Given the description of an element on the screen output the (x, y) to click on. 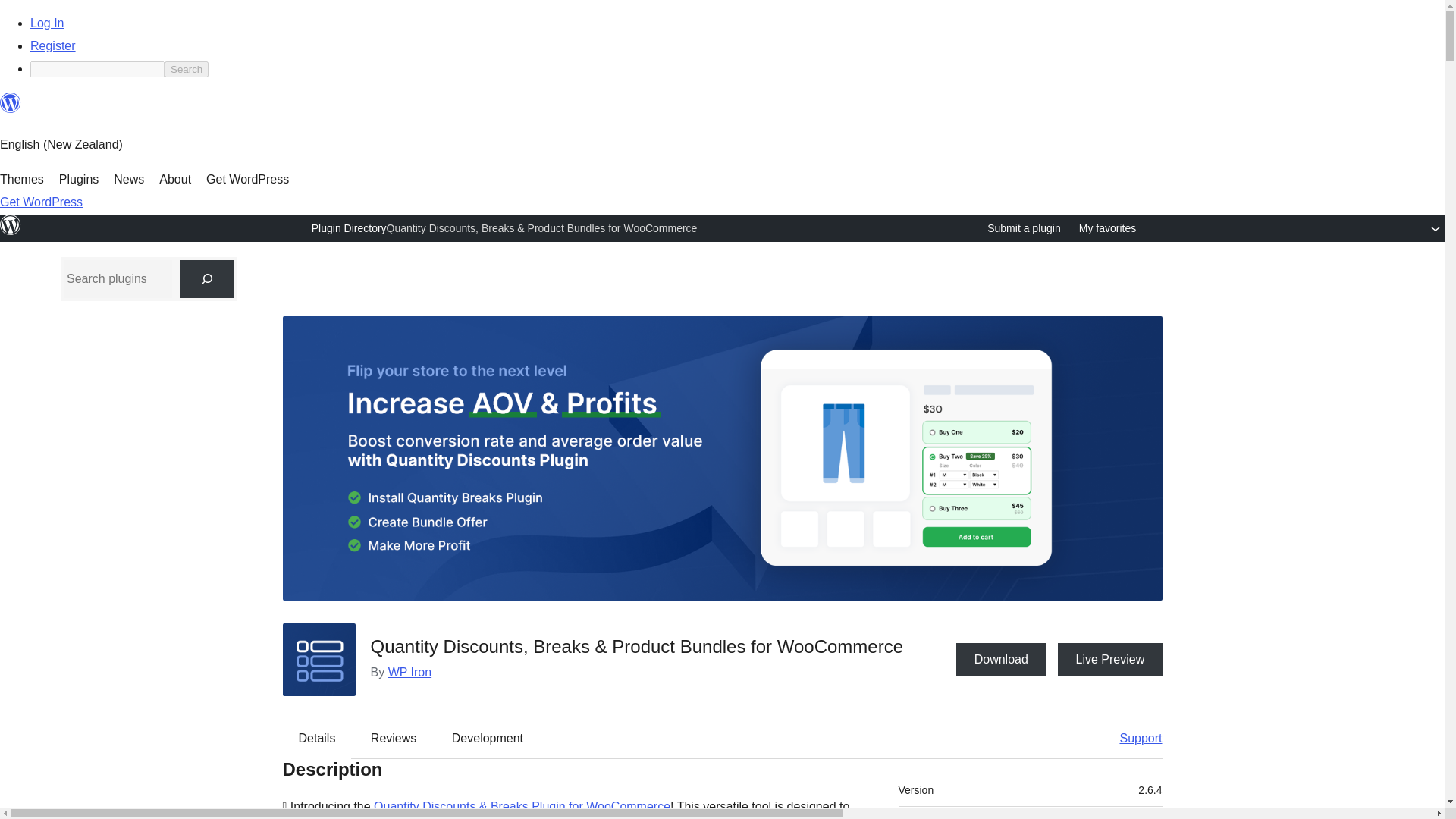
Reviews (392, 738)
WordPress.org (10, 102)
Search (186, 68)
WordPress.org (10, 224)
Plugin Directory (349, 227)
Submit a plugin (1024, 228)
Download (1000, 658)
WP Iron (410, 671)
News (128, 179)
Development (487, 738)
About (174, 179)
Themes (21, 179)
Plugins (79, 179)
Get WordPress (247, 179)
Search (186, 68)
